Given the description of an element on the screen output the (x, y) to click on. 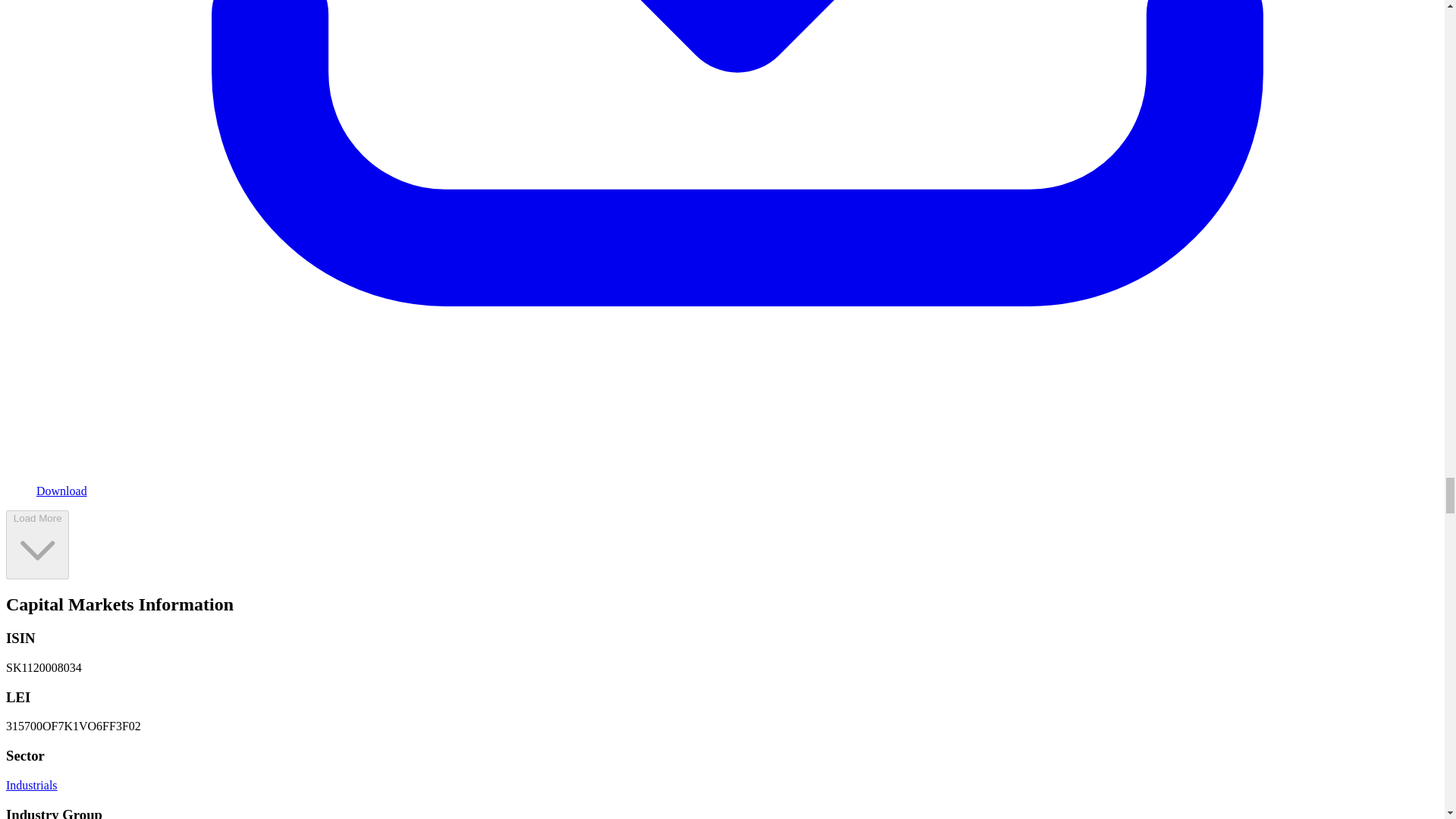
Load More (36, 544)
Industrials (31, 784)
